Given the description of an element on the screen output the (x, y) to click on. 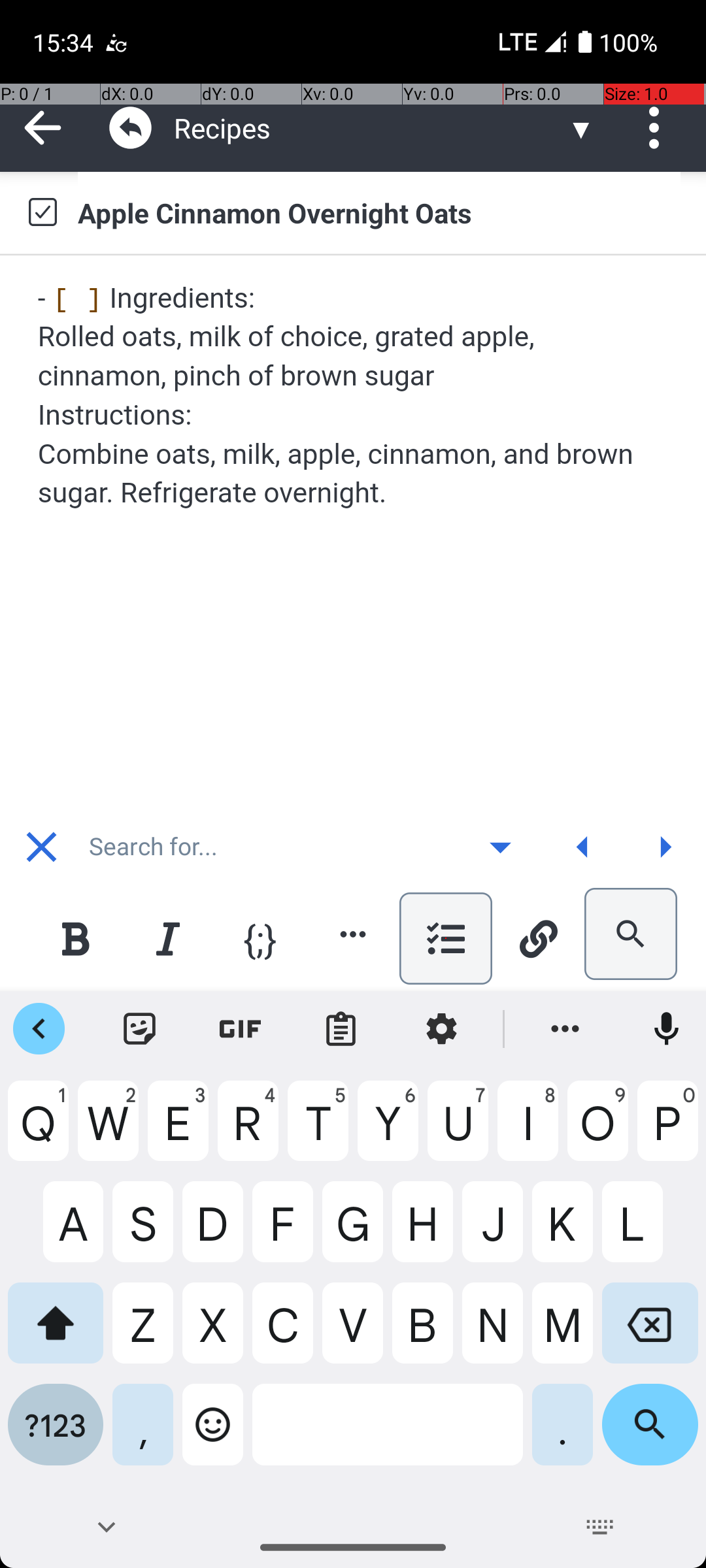
Apple Cinnamon Overnight Oats Element type: android.widget.EditText (378, 212)
Search for... Element type: android.widget.EditText (270, 846)
Show advanced Element type: android.widget.Button (499, 846)
Previous match Element type: android.widget.Button (582, 846)
Next match Element type: android.widget.Button (664, 846)
 Element type: android.widget.TextView (130, 127)
󰅖 Element type: android.widget.TextView (41, 846)
󰍝 Element type: android.widget.TextView (500, 846)
󰍞 Element type: android.widget.TextView (582, 846)
󰍟 Element type: android.widget.TextView (664, 846)
Ingredients:
Rolled oats, milk of choice, grated apple, cinnamon, pinch of brown sugar
Instructions:
Combine oats, milk, apple, cinnamon, and brown sugar. Refrigerate overnight. Element type: android.widget.EditText (354, 395)
